Given the description of an element on the screen output the (x, y) to click on. 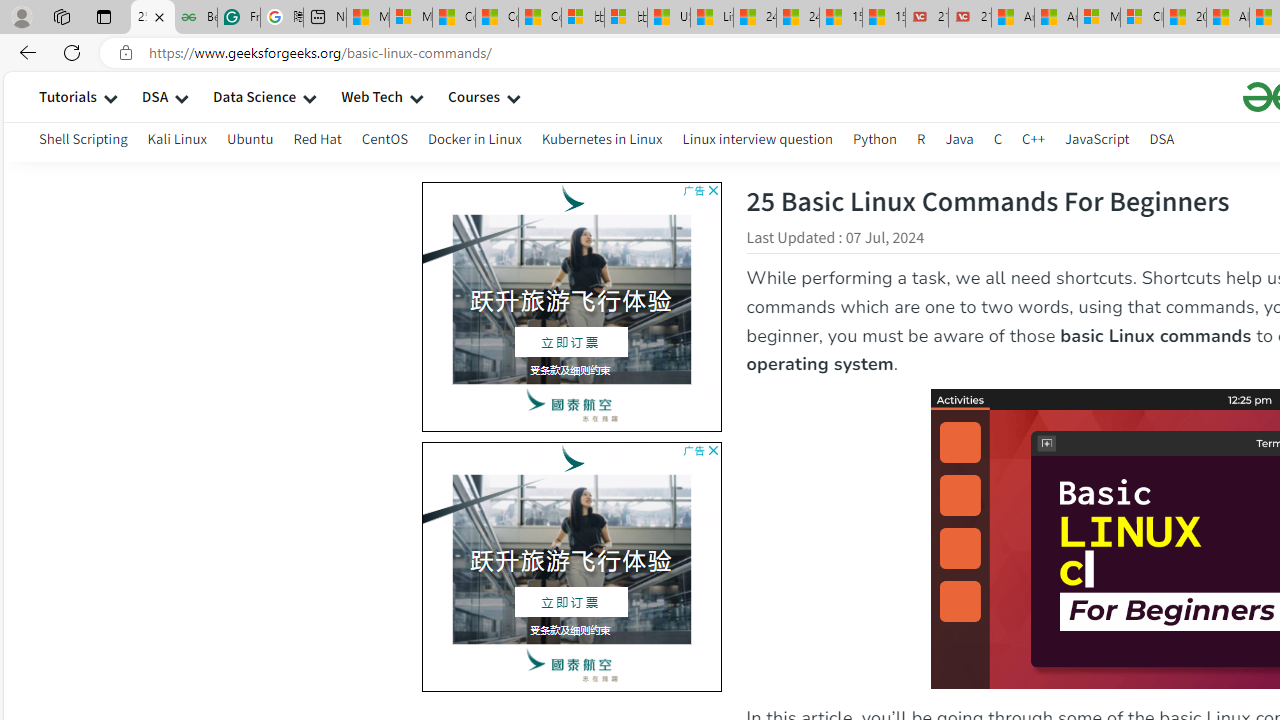
C (997, 138)
Ubuntu (250, 142)
AutomationID: tag (571, 565)
AutomationID: bg3 (274, 561)
USA TODAY - MSN (668, 17)
AutomationID: cbb (712, 449)
AutomationID: brandLogo (571, 566)
AutomationID: gradient3 (274, 561)
Cloud Computing Services | Microsoft Azure (1142, 17)
Kali Linux (176, 142)
AutomationID: gradient2 (274, 561)
AutomationID: vapourBg (567, 565)
AutomationID: bg5 (571, 559)
CentOS (384, 138)
